Given the description of an element on the screen output the (x, y) to click on. 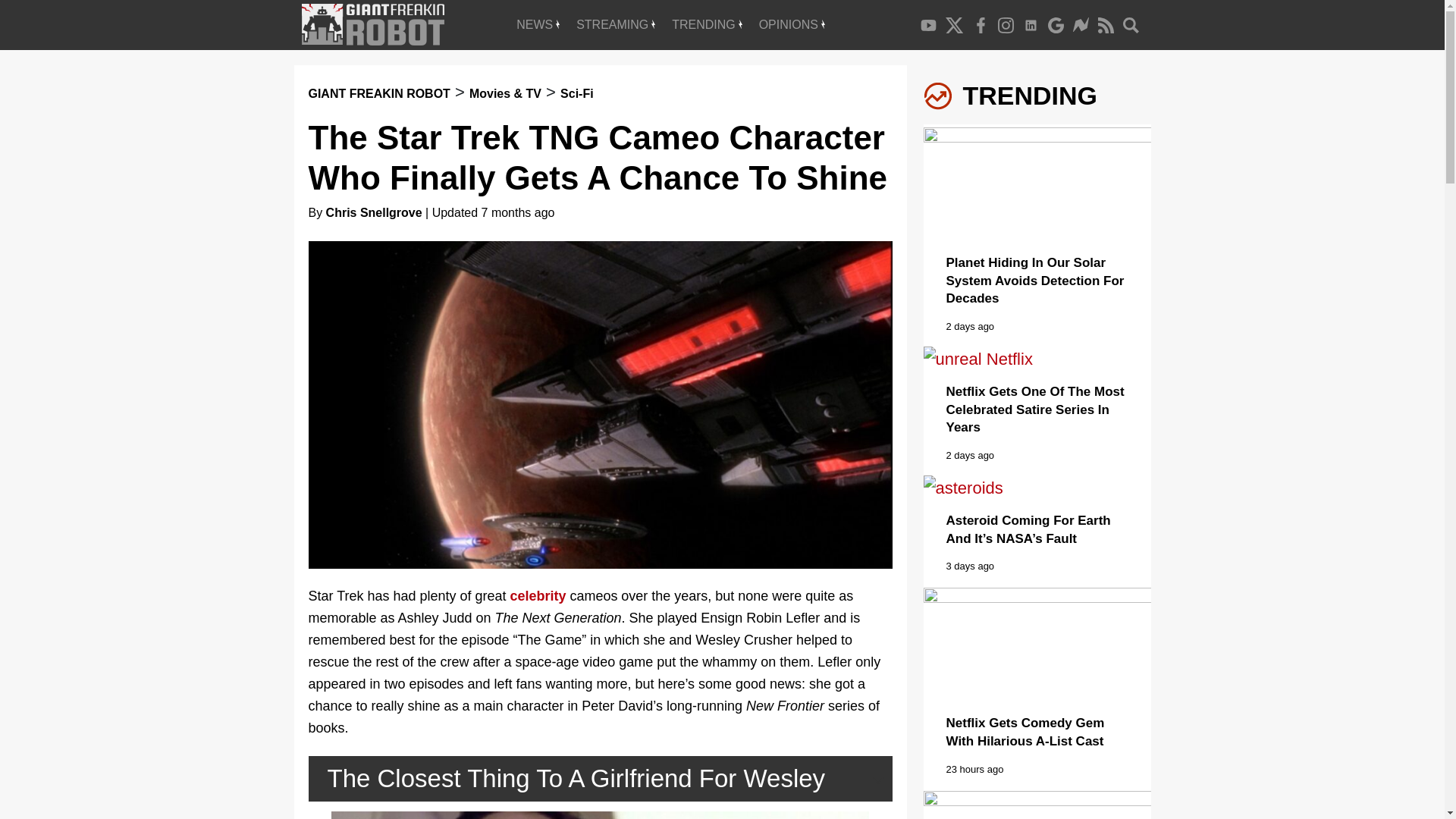
Entertainment News (537, 24)
Trending (706, 24)
STREAMING (615, 24)
Sci-Fi (577, 92)
GIANT FREAKIN ROBOT (378, 92)
TRENDING (706, 24)
NEWS (537, 24)
Chris Snellgrove (374, 212)
OPINIONS (791, 24)
